Given the description of an element on the screen output the (x, y) to click on. 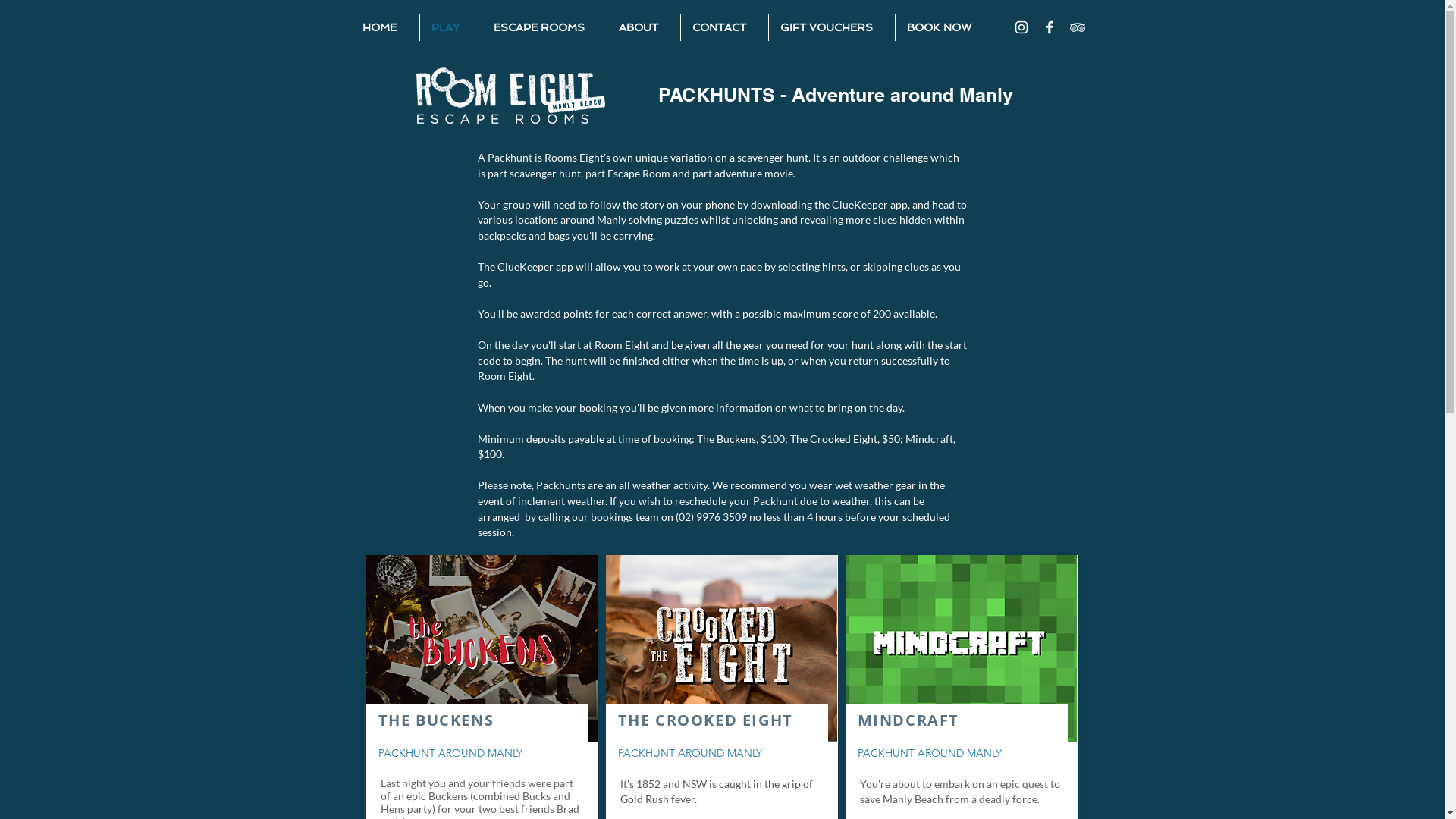
PLAY Element type: text (450, 26)
HOME Element type: text (384, 26)
CONTACT Element type: text (724, 26)
GIFT VOUCHERS Element type: text (831, 26)
BOOK NOW Element type: text (943, 26)
